Given the description of an element on the screen output the (x, y) to click on. 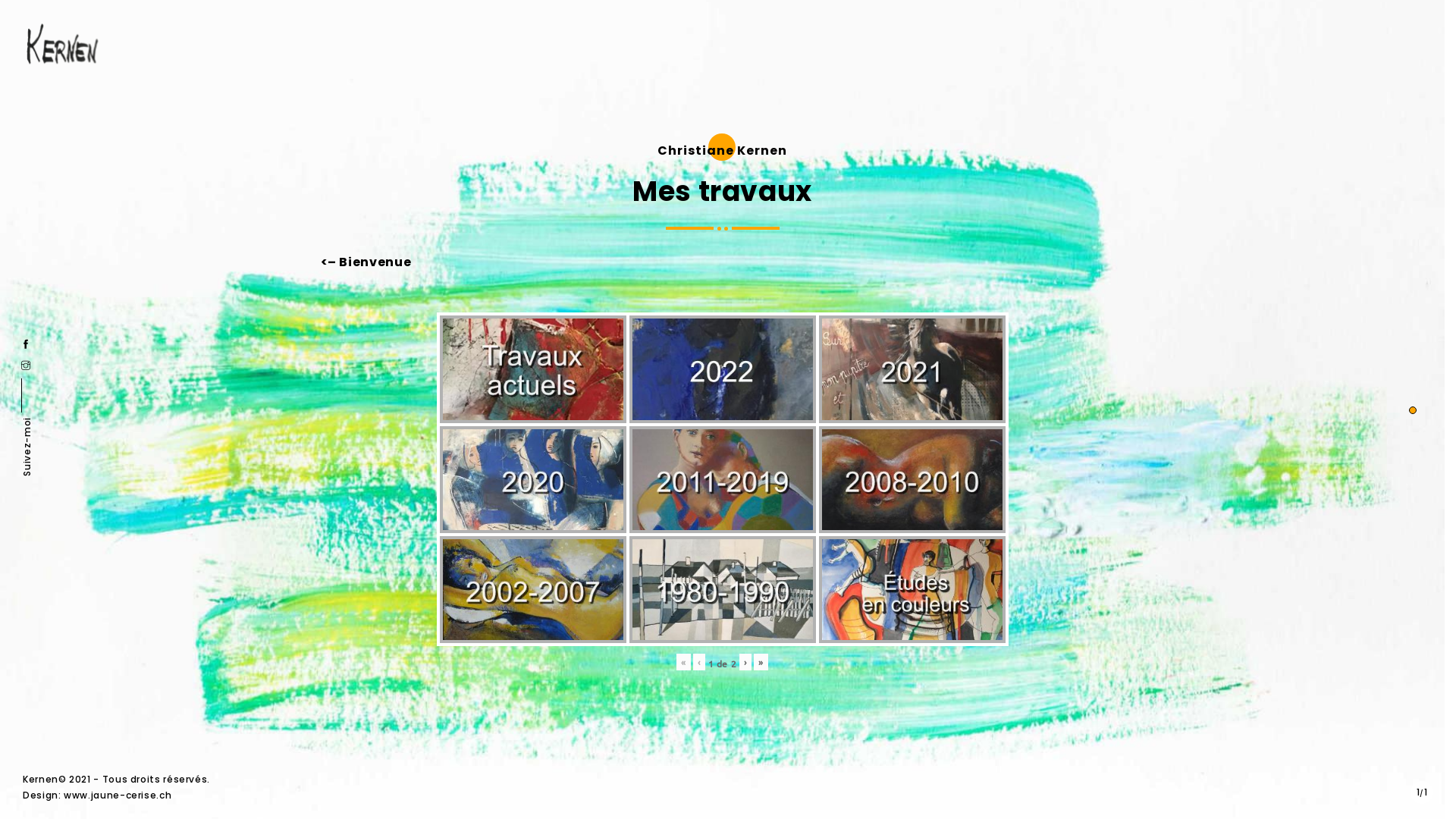
www.jaune-cerise.ch Element type: text (117, 794)
